Given the description of an element on the screen output the (x, y) to click on. 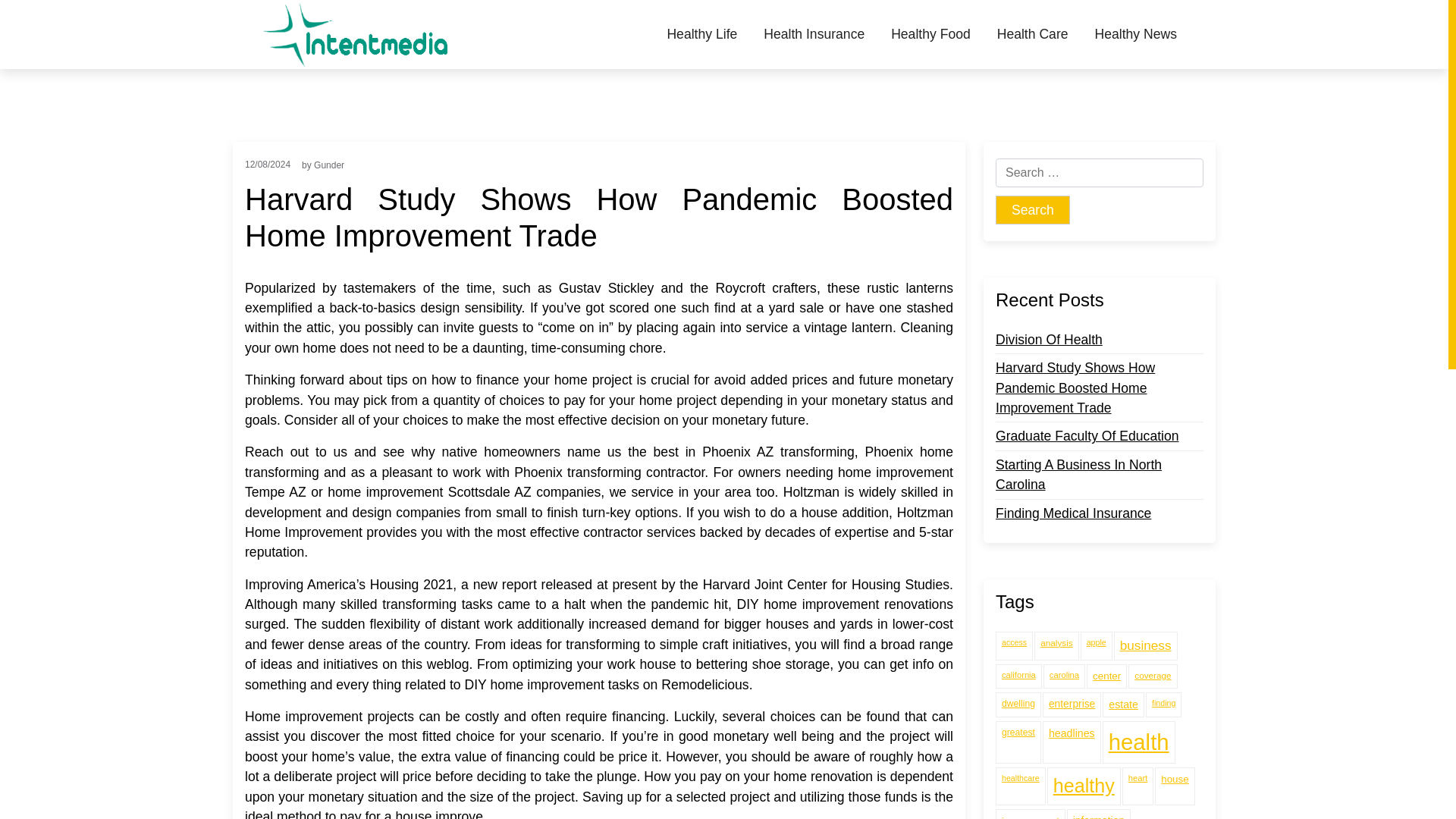
Graduate Faculty Of Education (1087, 435)
Health Care (1032, 34)
access (1013, 645)
Search (1032, 209)
center (1106, 676)
carolina (1063, 676)
analysis (1055, 645)
Finding Medical Insurance (1073, 513)
Starting A Business In North Carolina (1099, 475)
Healthy News (1135, 34)
